Given the description of an element on the screen output the (x, y) to click on. 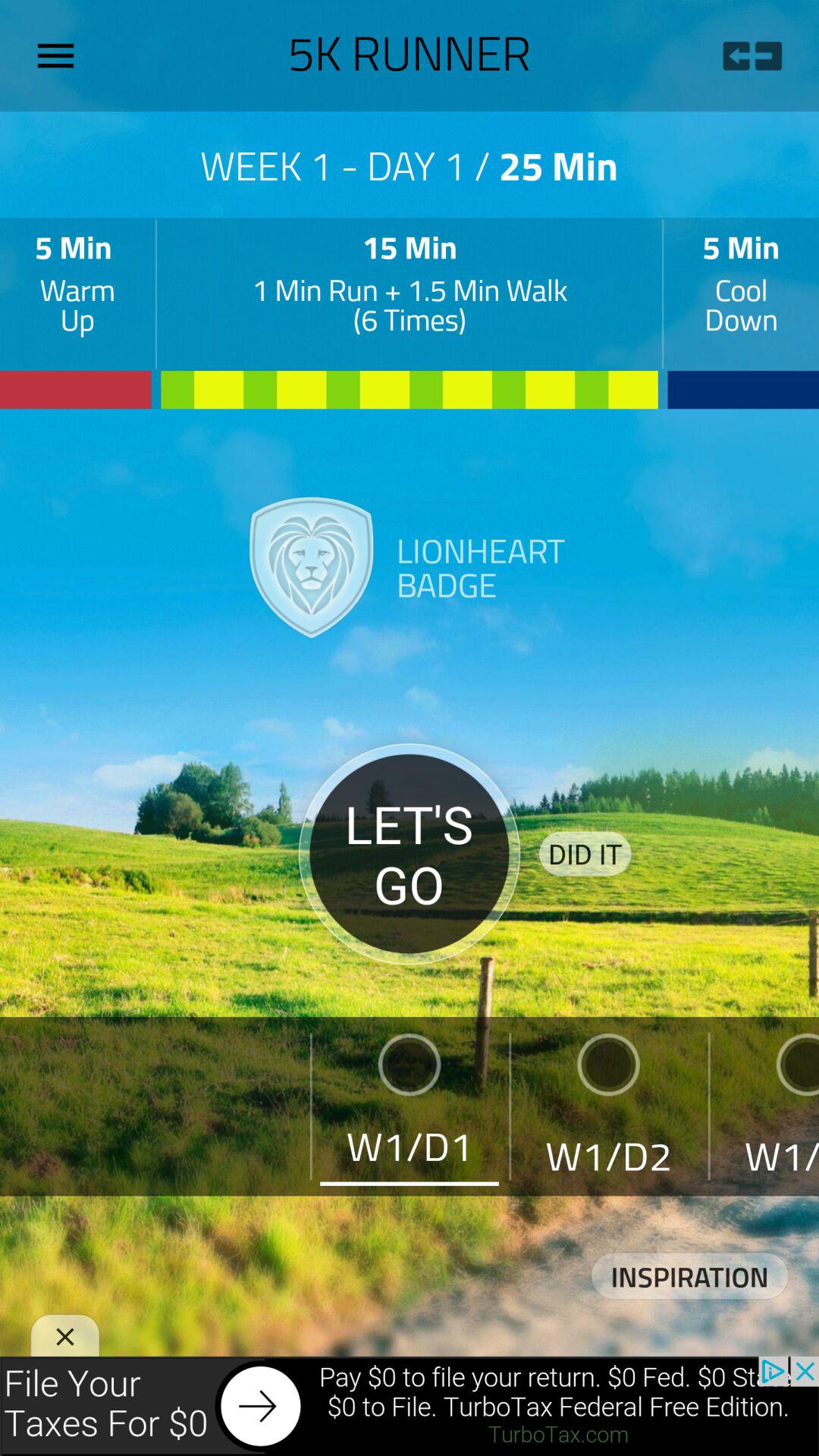
advertisement (409, 1406)
